Given the description of an element on the screen output the (x, y) to click on. 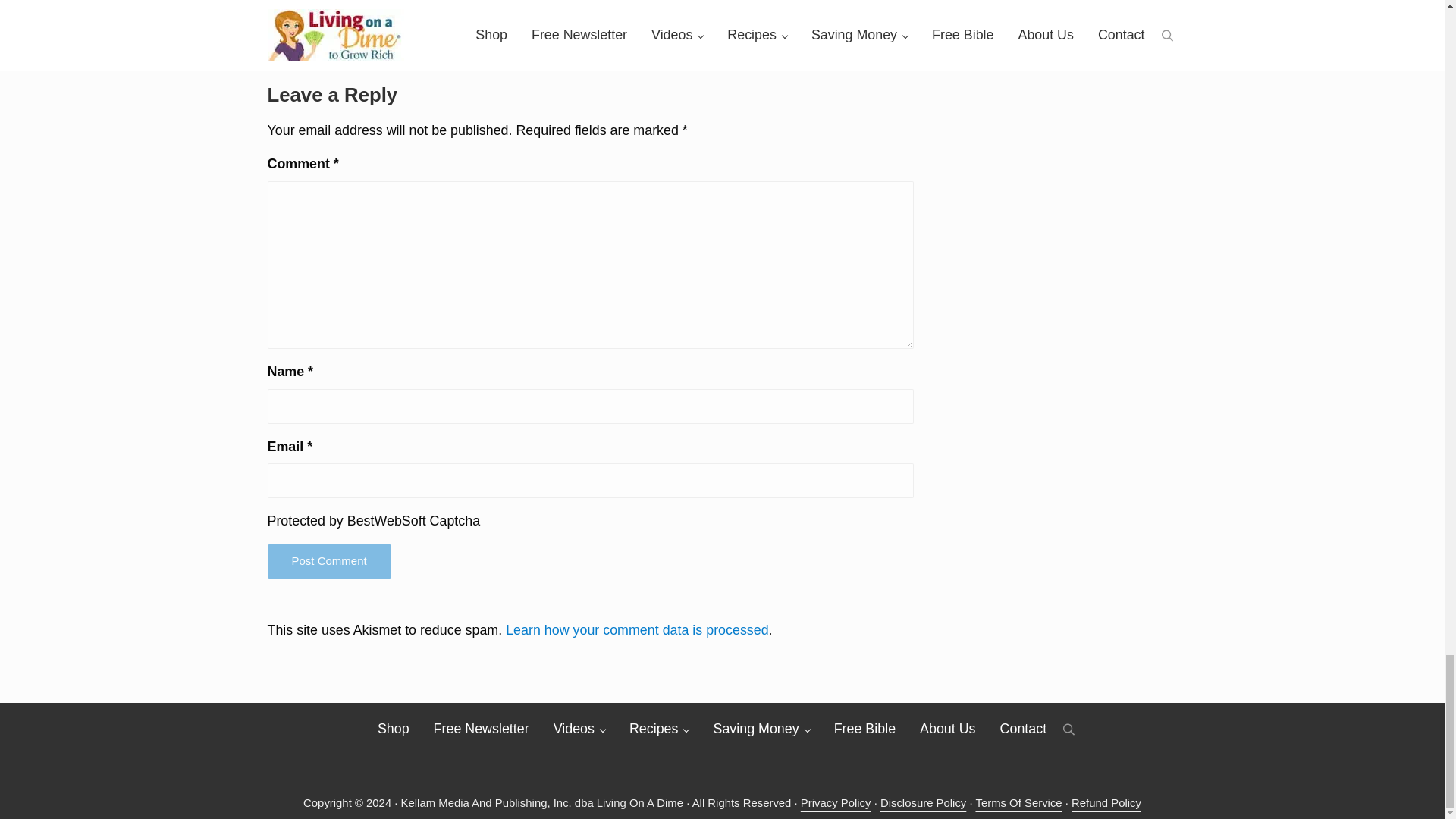
Post Comment (328, 561)
